Given the description of an element on the screen output the (x, y) to click on. 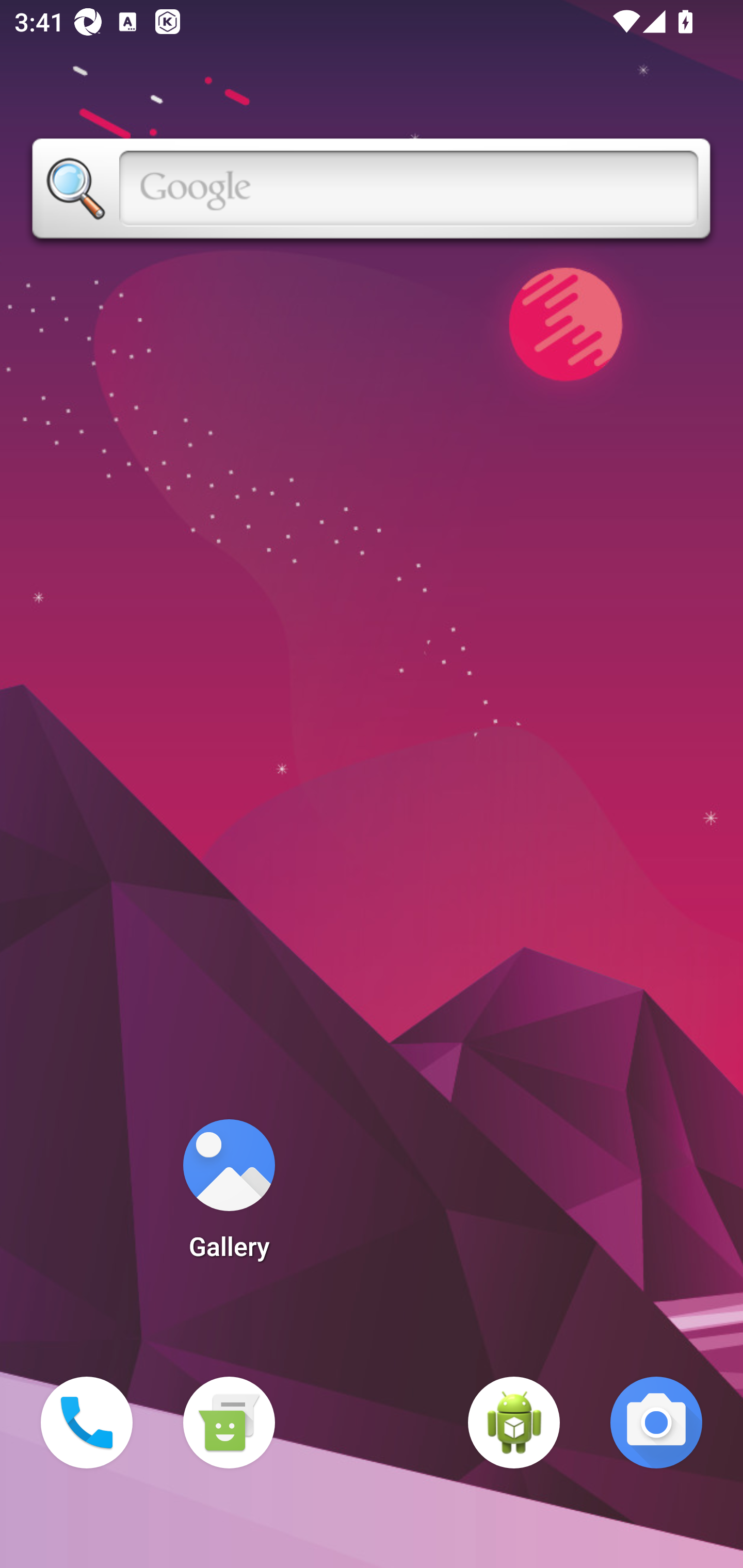
Gallery (228, 1195)
Phone (86, 1422)
Messaging (228, 1422)
WebView Browser Tester (513, 1422)
Camera (656, 1422)
